Given the description of an element on the screen output the (x, y) to click on. 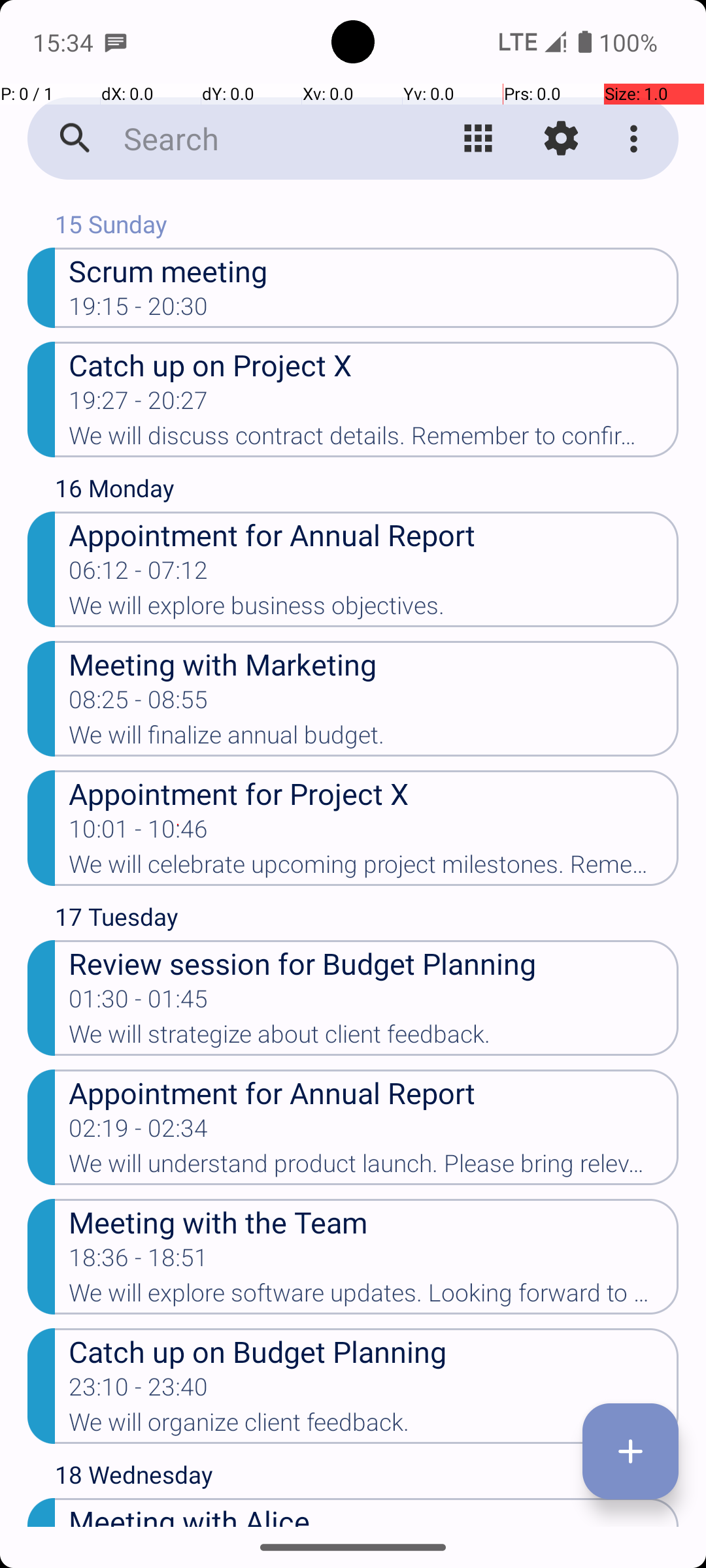
Scrum meeting Element type: android.widget.TextView (373, 269)
19:15 - 20:30 Element type: android.widget.TextView (137, 309)
19:27 - 20:27 Element type: android.widget.TextView (137, 404)
We will discuss contract details. Remember to confirm attendance. Element type: android.widget.TextView (373, 439)
06:12 - 07:12 Element type: android.widget.TextView (137, 573)
We will explore business objectives. Element type: android.widget.TextView (373, 609)
08:25 - 08:55 Element type: android.widget.TextView (137, 703)
We will finalize annual budget. Element type: android.widget.TextView (373, 738)
10:01 - 10:46 Element type: android.widget.TextView (137, 832)
We will celebrate upcoming project milestones. Remember to confirm attendance. Element type: android.widget.TextView (373, 867)
01:30 - 01:45 Element type: android.widget.TextView (137, 1002)
We will strategize about client feedback. Element type: android.widget.TextView (373, 1037)
02:19 - 02:34 Element type: android.widget.TextView (137, 1131)
We will understand product launch. Please bring relevant documents. Element type: android.widget.TextView (373, 1167)
18:36 - 18:51 Element type: android.widget.TextView (137, 1261)
We will explore software updates. Looking forward to productive discussions. Element type: android.widget.TextView (373, 1296)
23:10 - 23:40 Element type: android.widget.TextView (137, 1390)
We will organize client feedback. Element type: android.widget.TextView (373, 1425)
